Given the description of an element on the screen output the (x, y) to click on. 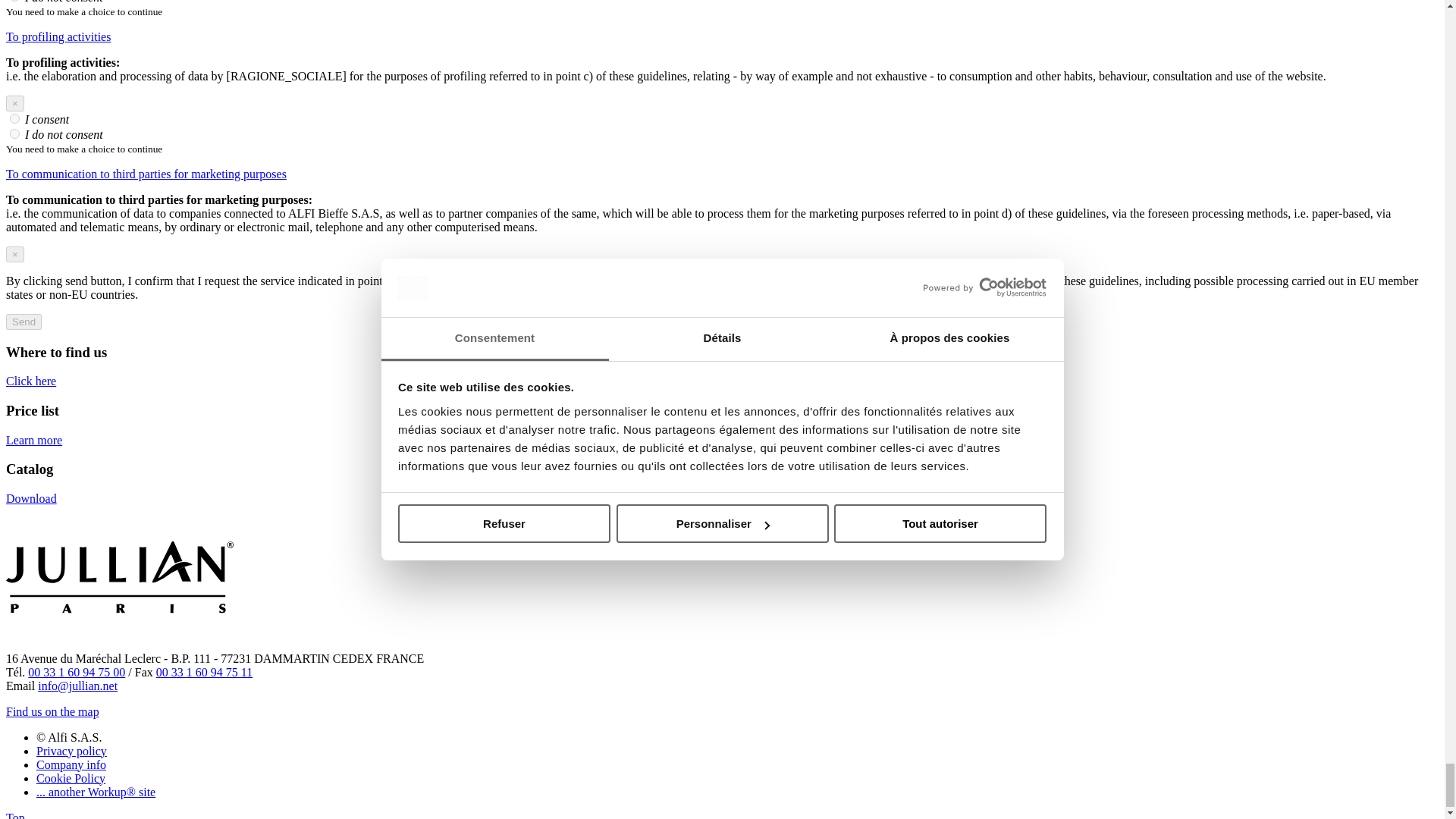
No (15, 133)
Si (15, 118)
